Given the description of an element on the screen output the (x, y) to click on. 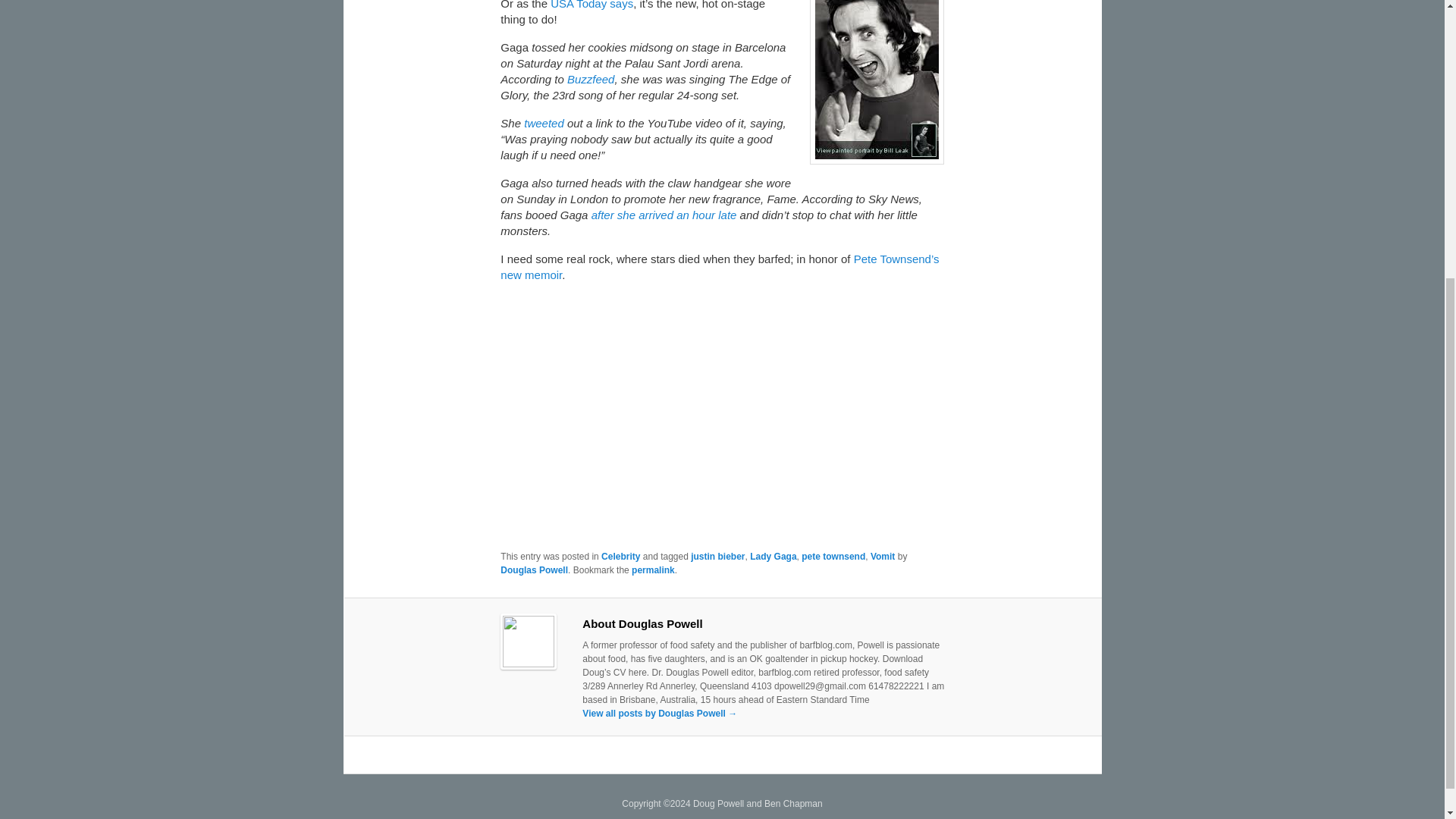
Permalink to Lady Gaga vomits on stage in Spain (653, 570)
